Given the description of an element on the screen output the (x, y) to click on. 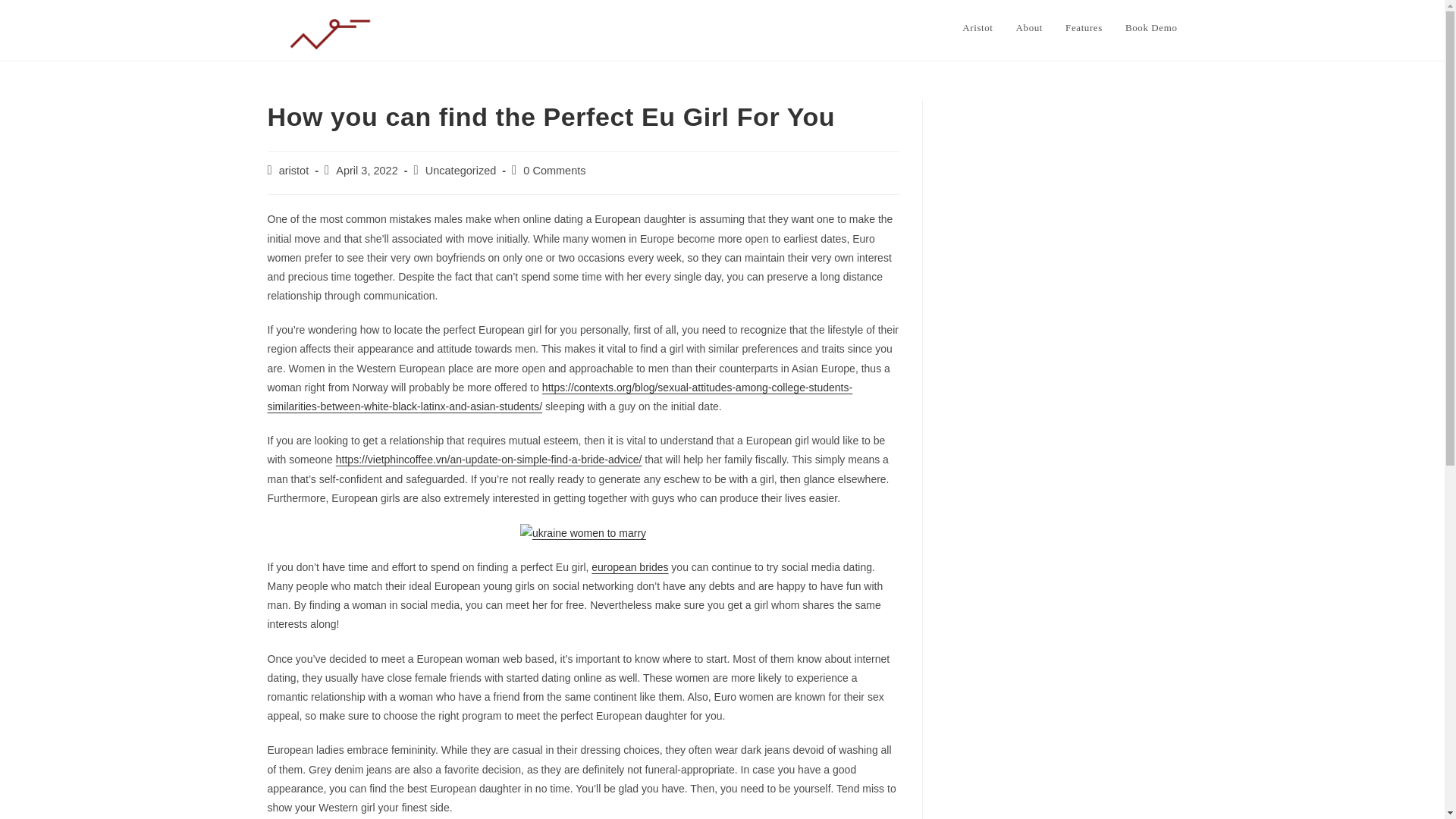
About (1029, 28)
european brides (629, 567)
Features (1083, 28)
Aristot (977, 28)
aristot (293, 170)
0 Comments (553, 170)
Posts by aristot (293, 170)
Uncategorized (460, 170)
Book Demo (1151, 28)
